Given the description of an element on the screen output the (x, y) to click on. 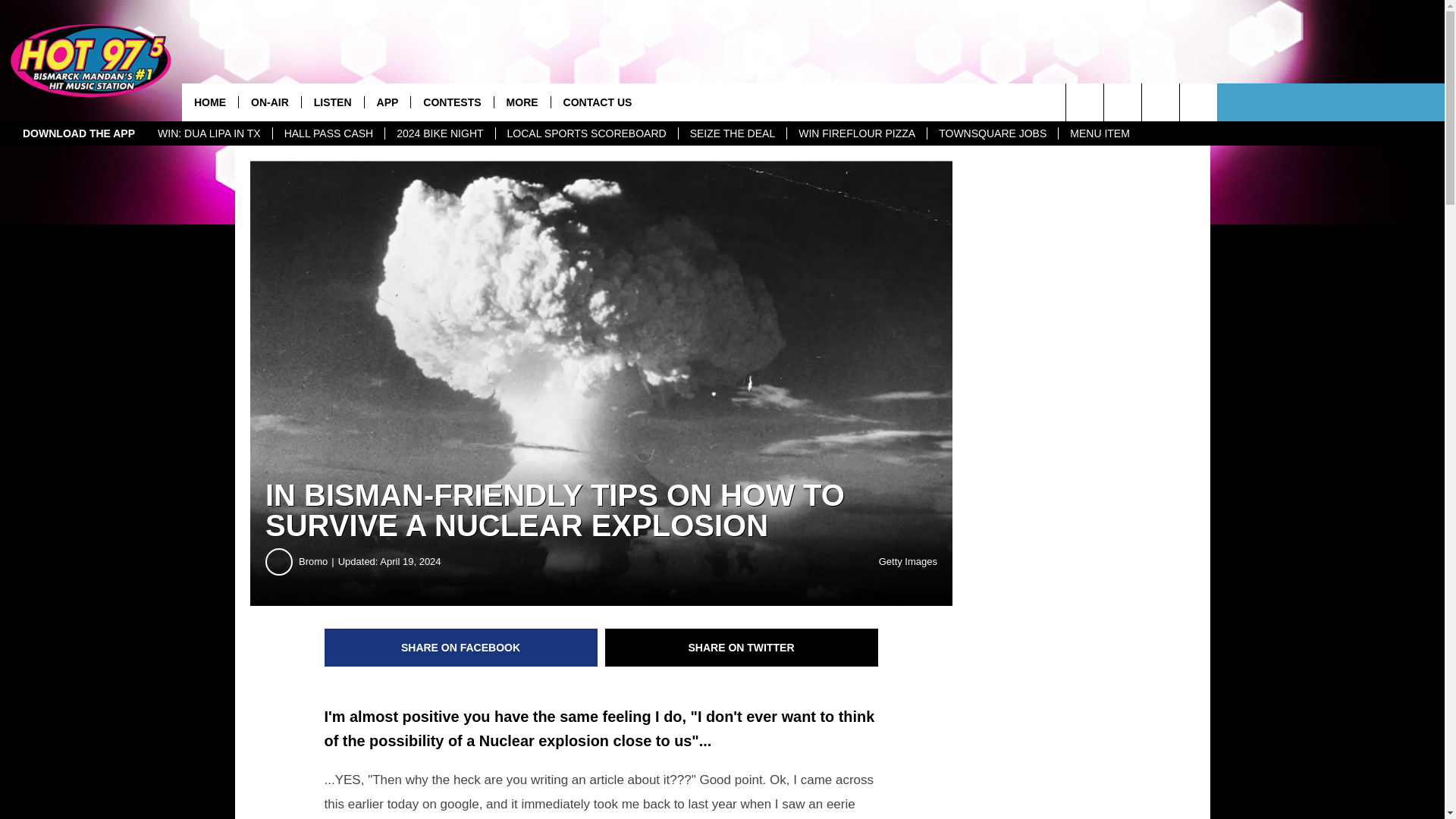
WIN: DUA LIPA IN TX (209, 133)
DOWNLOAD THE APP (79, 133)
LOCAL SPORTS SCOREBOARD (586, 133)
Share on Facebook (460, 647)
MORE (521, 102)
APP (387, 102)
HOME (210, 102)
Share on Twitter (741, 647)
ON-AIR (269, 102)
LISTEN (332, 102)
MENU ITEM (1099, 133)
2024 BIKE NIGHT (439, 133)
TOWNSQUARE JOBS (992, 133)
HALL PASS CASH (328, 133)
SEIZE THE DEAL (732, 133)
